Given the description of an element on the screen output the (x, y) to click on. 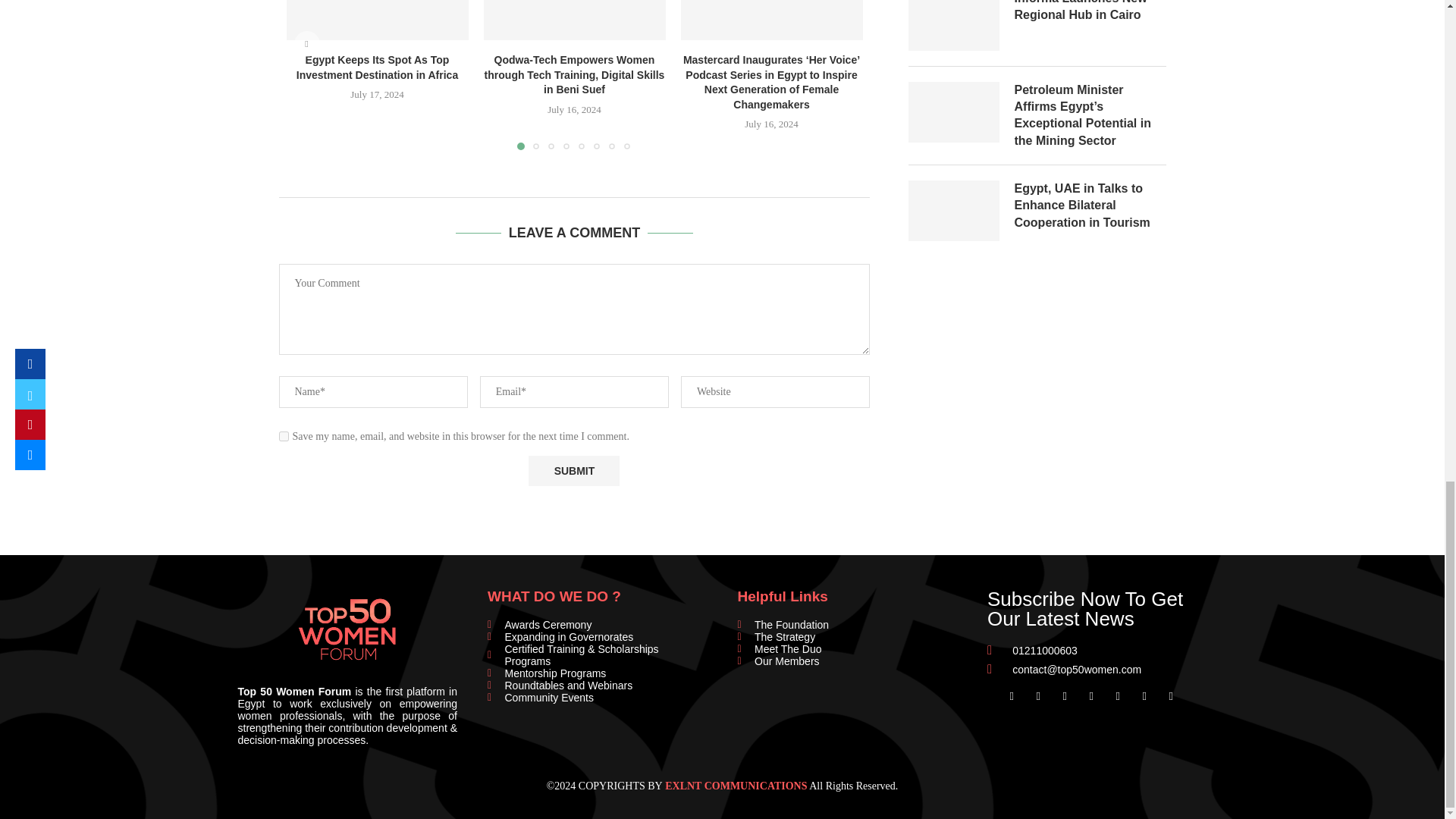
Egypt Keeps Its Spot As Top Investment Destination in Africa (377, 20)
Submit (574, 470)
yes (283, 436)
